Given the description of an element on the screen output the (x, y) to click on. 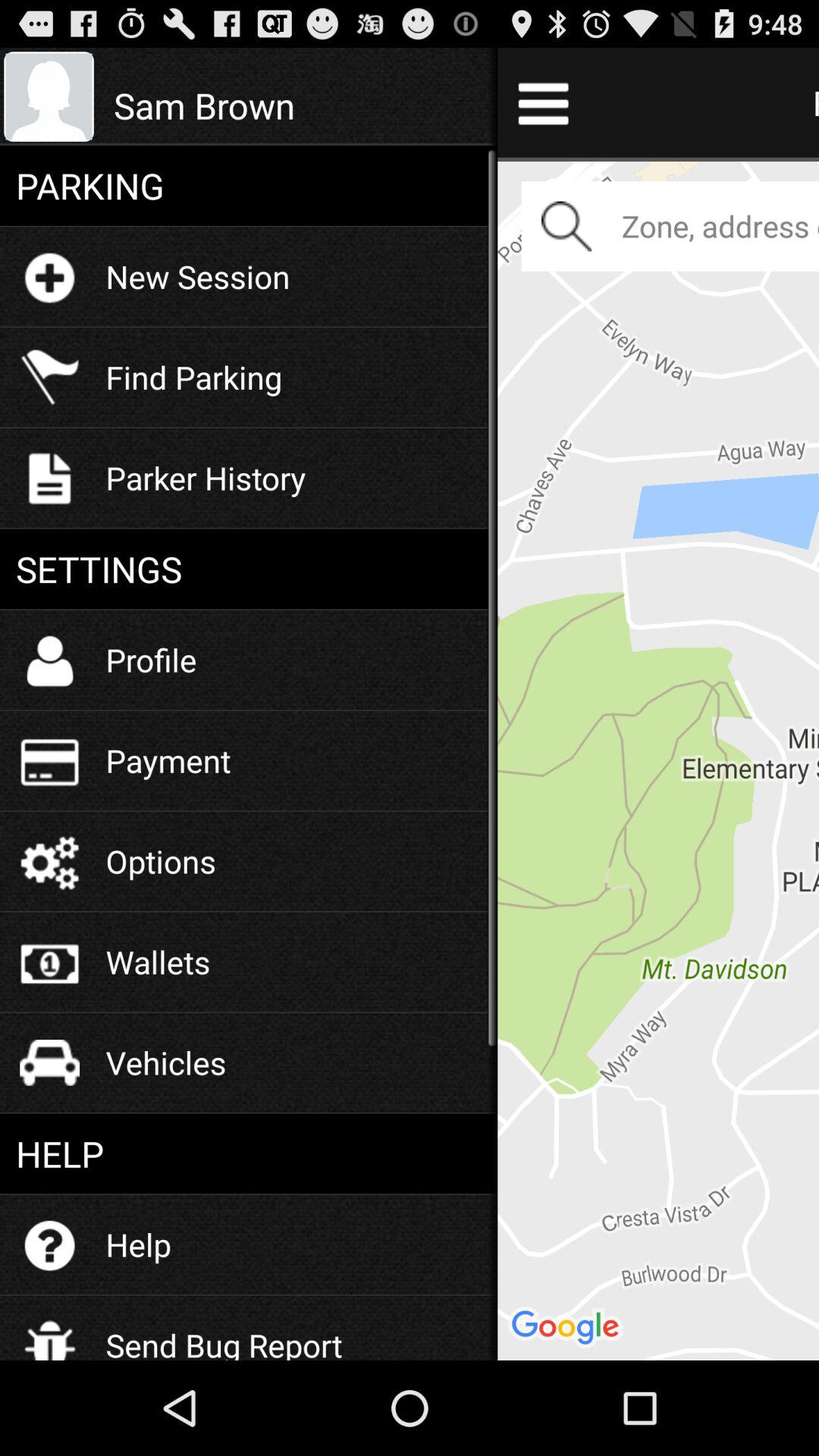
click item above the parking item (297, 105)
